Given the description of an element on the screen output the (x, y) to click on. 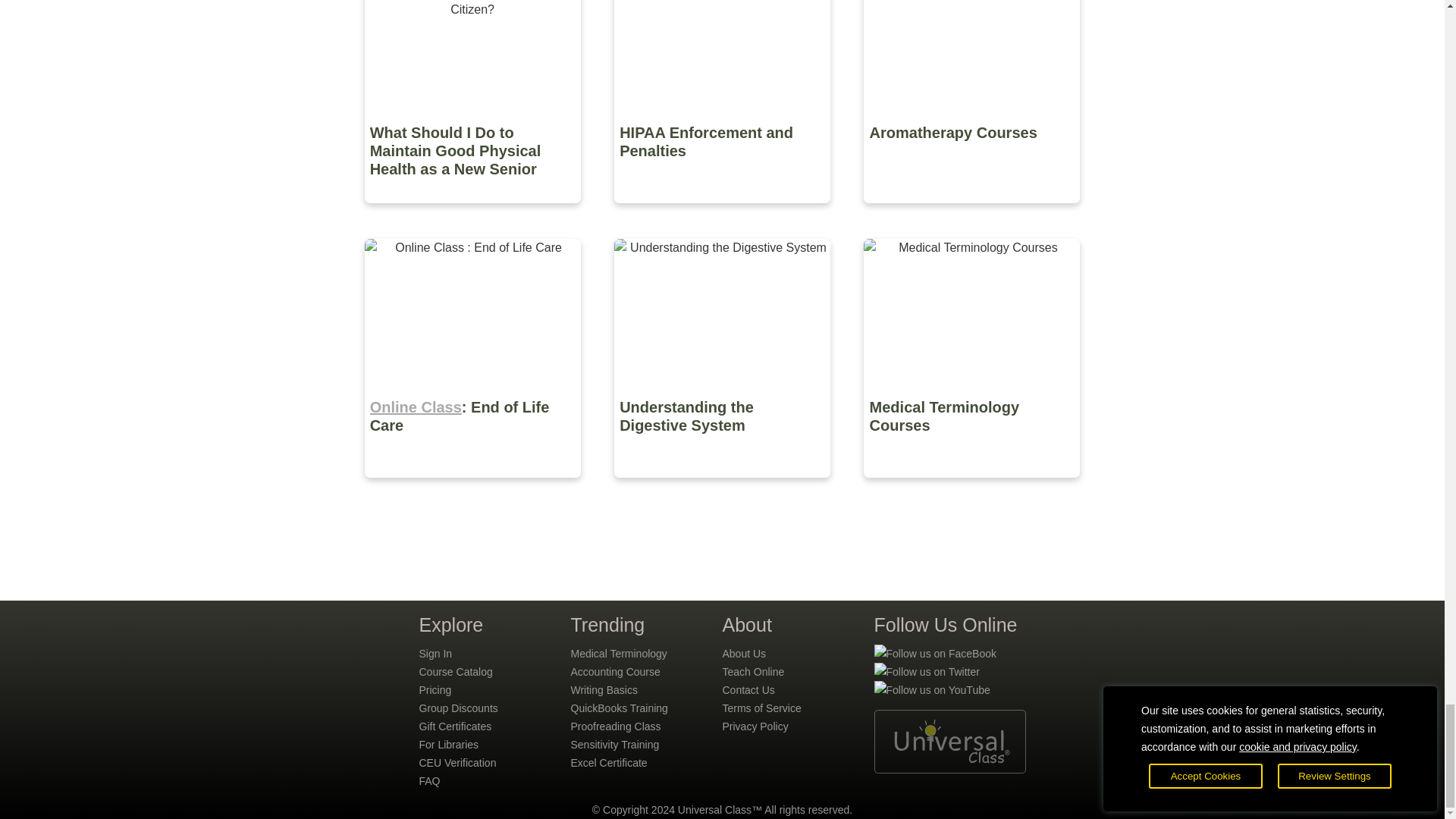
HIPAA Enforcement and Penalties (723, 214)
Online Class: End of Life Care (473, 488)
Aromatherapy Courses (971, 214)
